Given the description of an element on the screen output the (x, y) to click on. 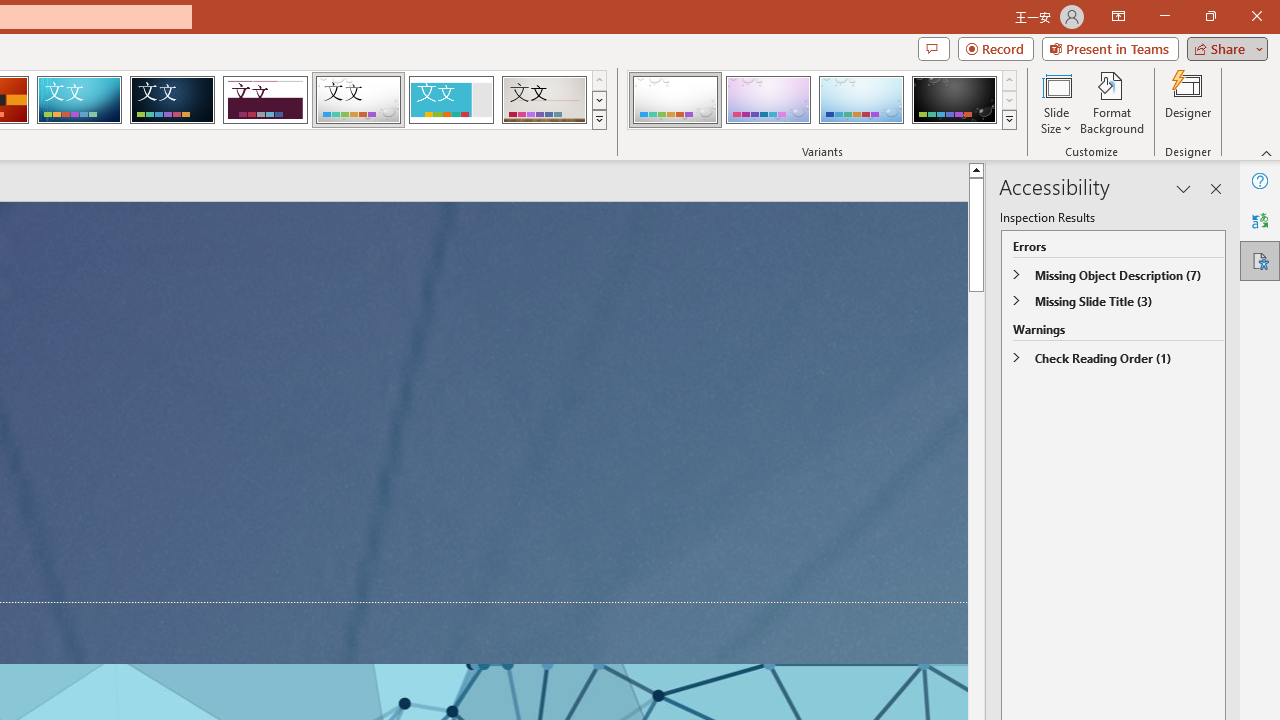
Dividend (265, 100)
Damask (171, 100)
